Given the description of an element on the screen output the (x, y) to click on. 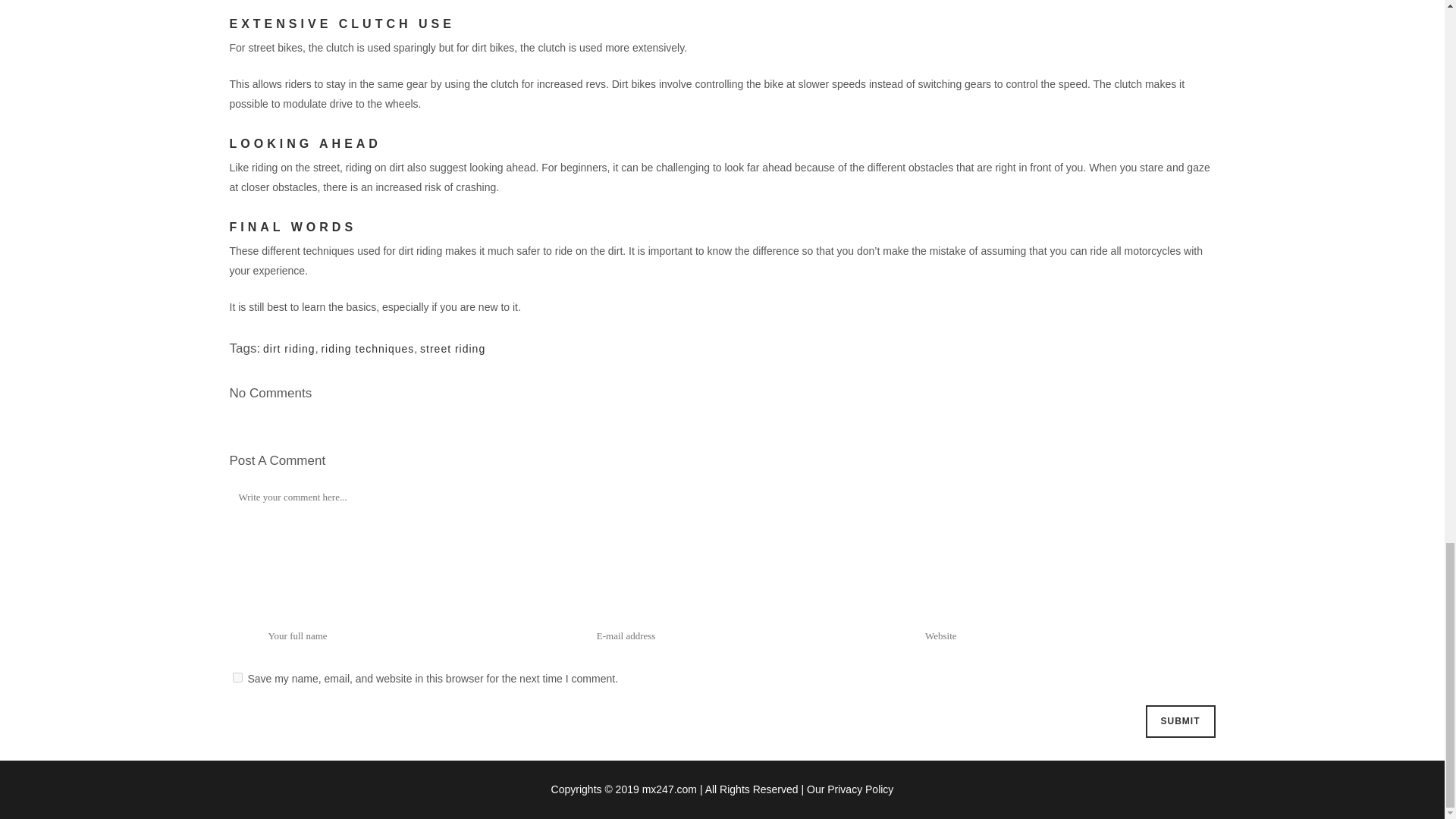
street riding (452, 348)
dirt riding (289, 348)
riding techniques (366, 348)
Our Privacy Policy (849, 788)
yes (236, 677)
Submit (1179, 721)
Submit (1179, 721)
